Given the description of an element on the screen output the (x, y) to click on. 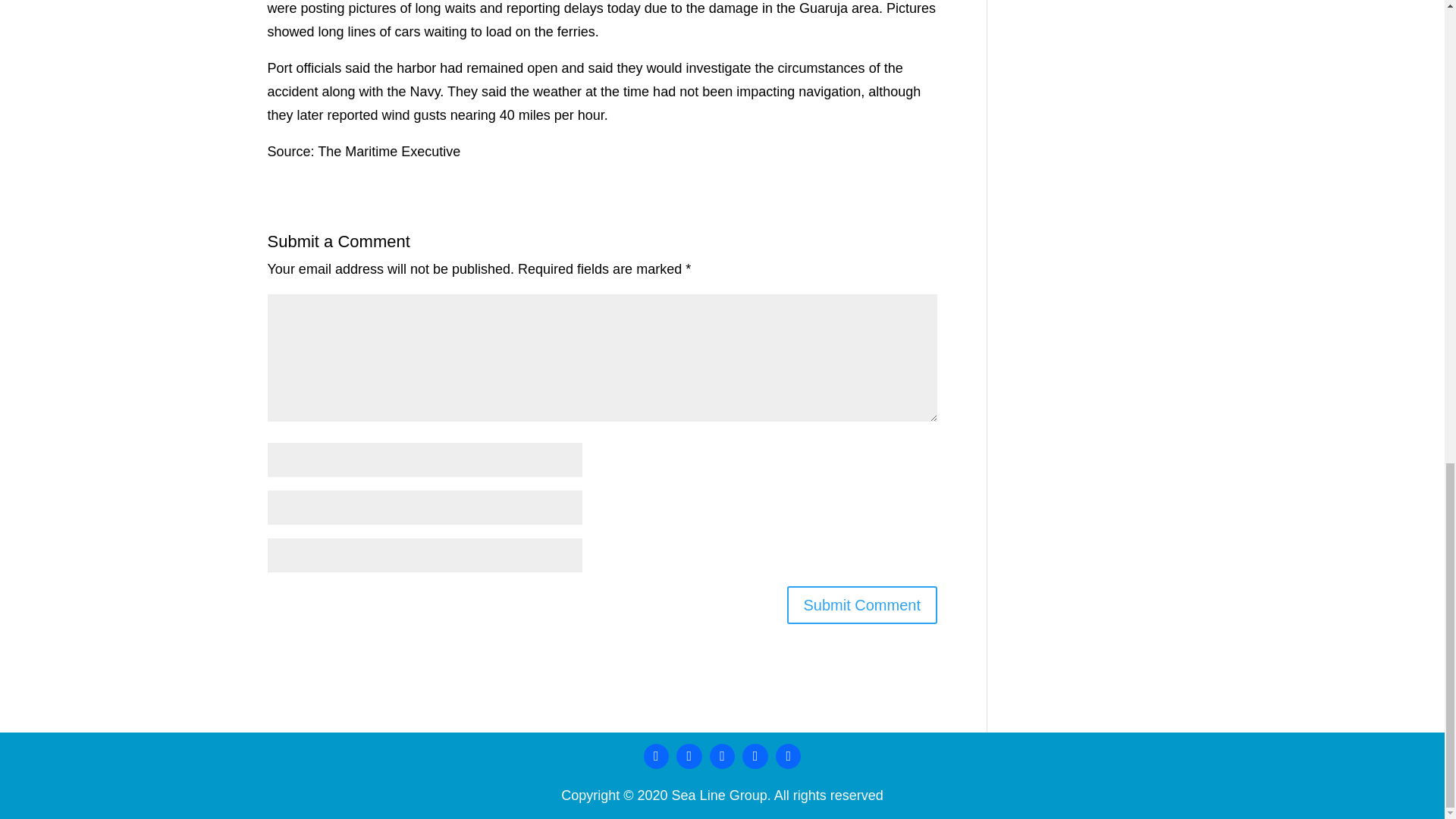
Facebook (656, 756)
Instagram (722, 756)
Submit Comment (862, 605)
Linkedin (689, 756)
Submit Comment (862, 605)
Whatsapp (788, 756)
WordPress (754, 756)
